Given the description of an element on the screen output the (x, y) to click on. 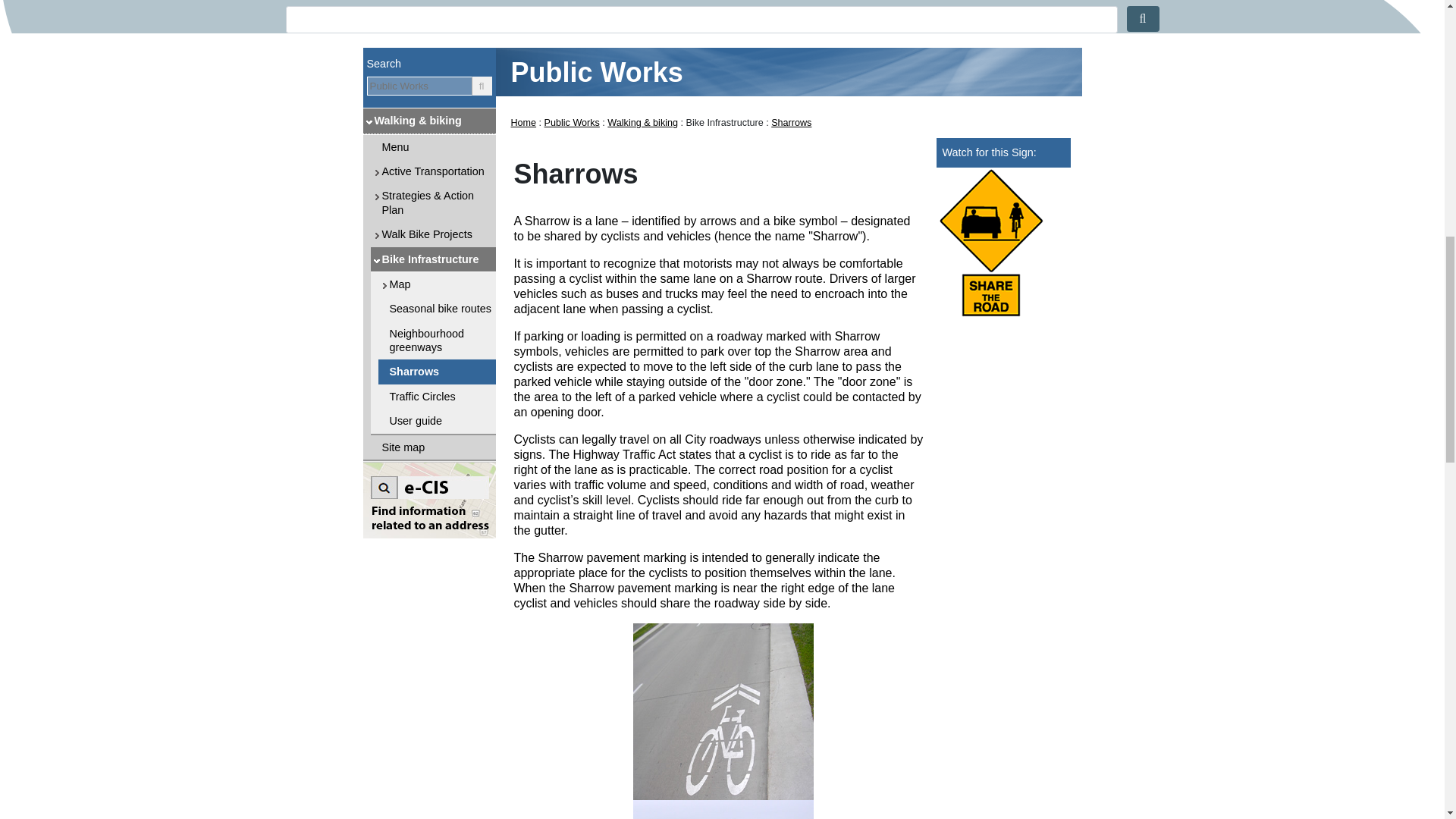
Search (330, 2)
Menu (420, 2)
